Given the description of an element on the screen output the (x, y) to click on. 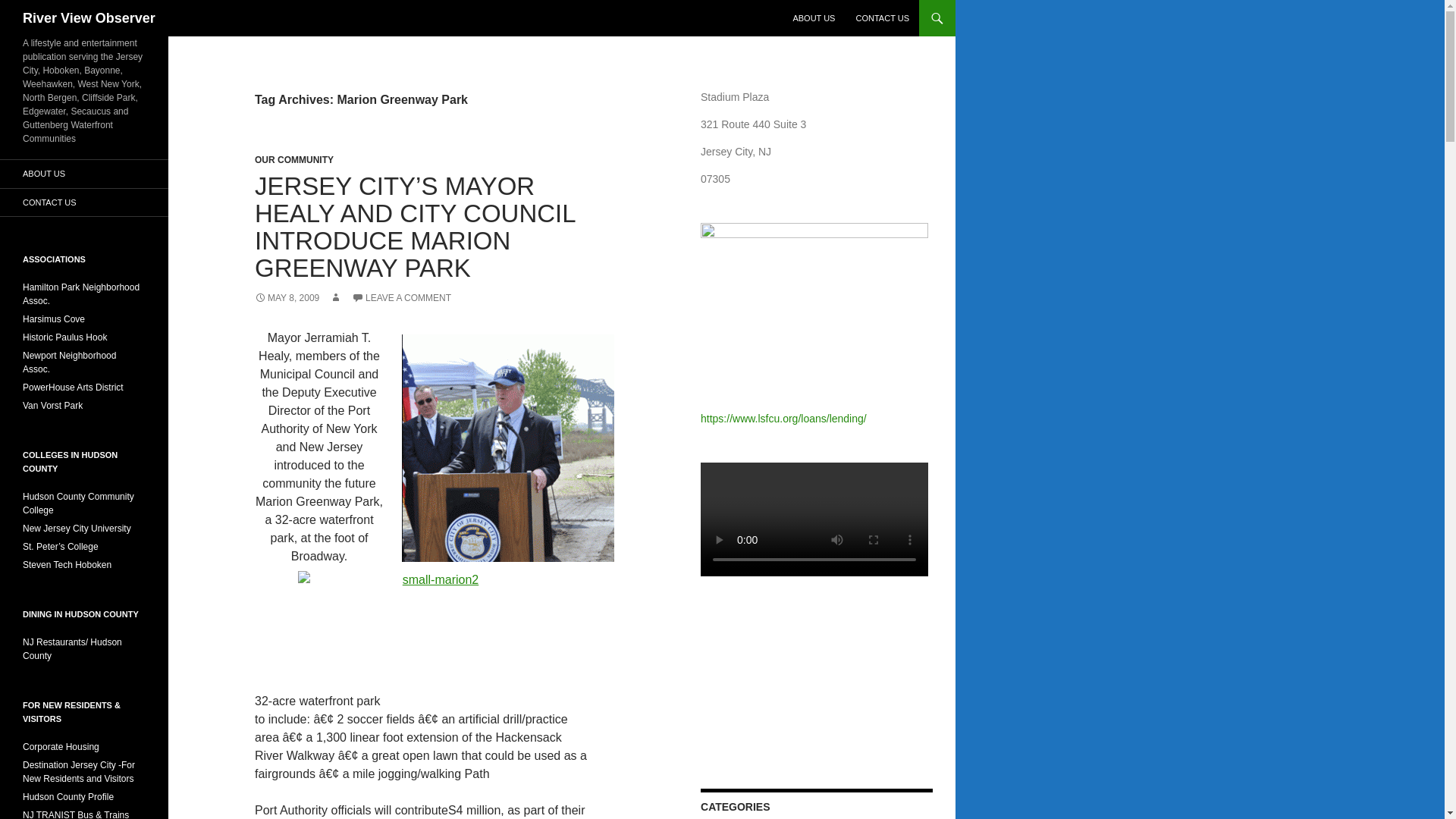
ABOUT US (813, 18)
small-marion2 (434, 622)
CONTACT US (881, 18)
Search (30, 8)
marion-and-healy-copy (507, 447)
LEAVE A COMMENT (401, 297)
MAY 8, 2009 (286, 297)
OUR COMMUNITY (293, 159)
River View Observer (89, 18)
